Given the description of an element on the screen output the (x, y) to click on. 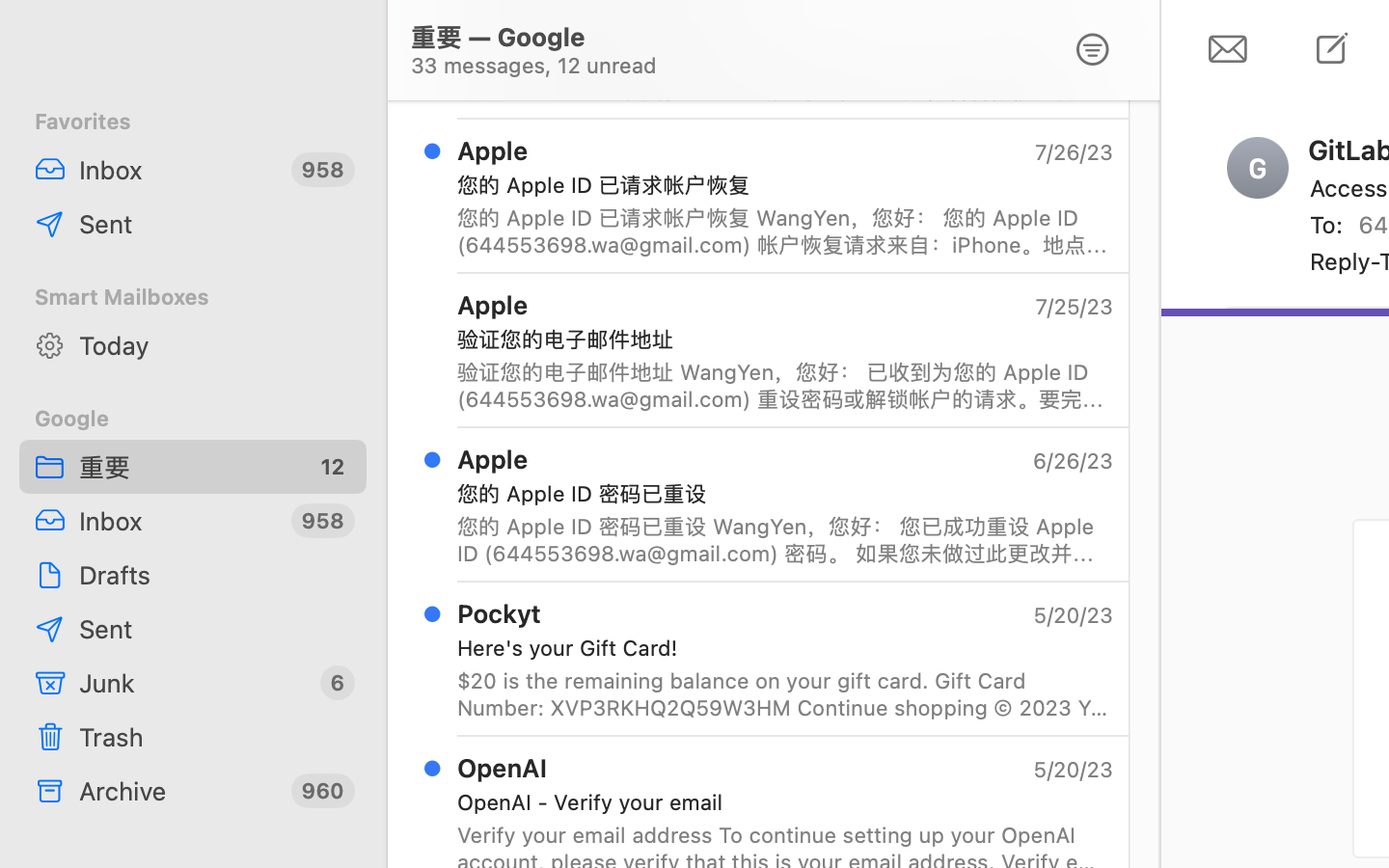
验证您的电子邮件地址 Element type: AXStaticText (777, 338)
您在Bumble上是我们的幸运！ 您很受欢迎哦，认识更多新朋友吧！ 打开Bumble 您的赞 有Bumble会员对您很感兴趣。看看你们是否彼此欣赏吧。 看看您的赞 小提示： 导入学校到您的个人档案吧。让大家进一步了解您，赢得更多配对。 打开Bumble Copyright (c) 2023 Bumble，保留所有权利。 反馈意见？support@bumble.com 您收到本邮件是因为您在Bumble上创建了一个账号。 如果您不希望收到此类邮件，只需取消订阅 Bumble Trading LLC注册于美国，注册办公地址为1105 W 41st Street, Austin, TX 78756 Element type: AXStaticText (784, 77)
验证您的电子邮件地址 WangYen，您好： 已收到为您的 Apple ID (644553698.wa@gmail.com) 重设密码或解锁帐户的请求。要完成此流程，请在验证页面输入以下代码： 354689 如果您未曾做出此更改，或认为有人未经授权访问了您的帐户，请立即前往 appleid.apple.com 以确保您的帐户信息准确且保持更新。 此致 Apple 支持 Apple ID | 支持 | 隐私政策 Copyright © 2023 One Apple Park Way, Cupertino, CA 95014, United States‎ 保留所有权利。 Element type: AXStaticText (784, 385)
Ien，您有1条新的Bumble通知 Element type: AXStaticText (777, 30)
Favorites Element type: AXStaticText (192, 121)
